Given the description of an element on the screen output the (x, y) to click on. 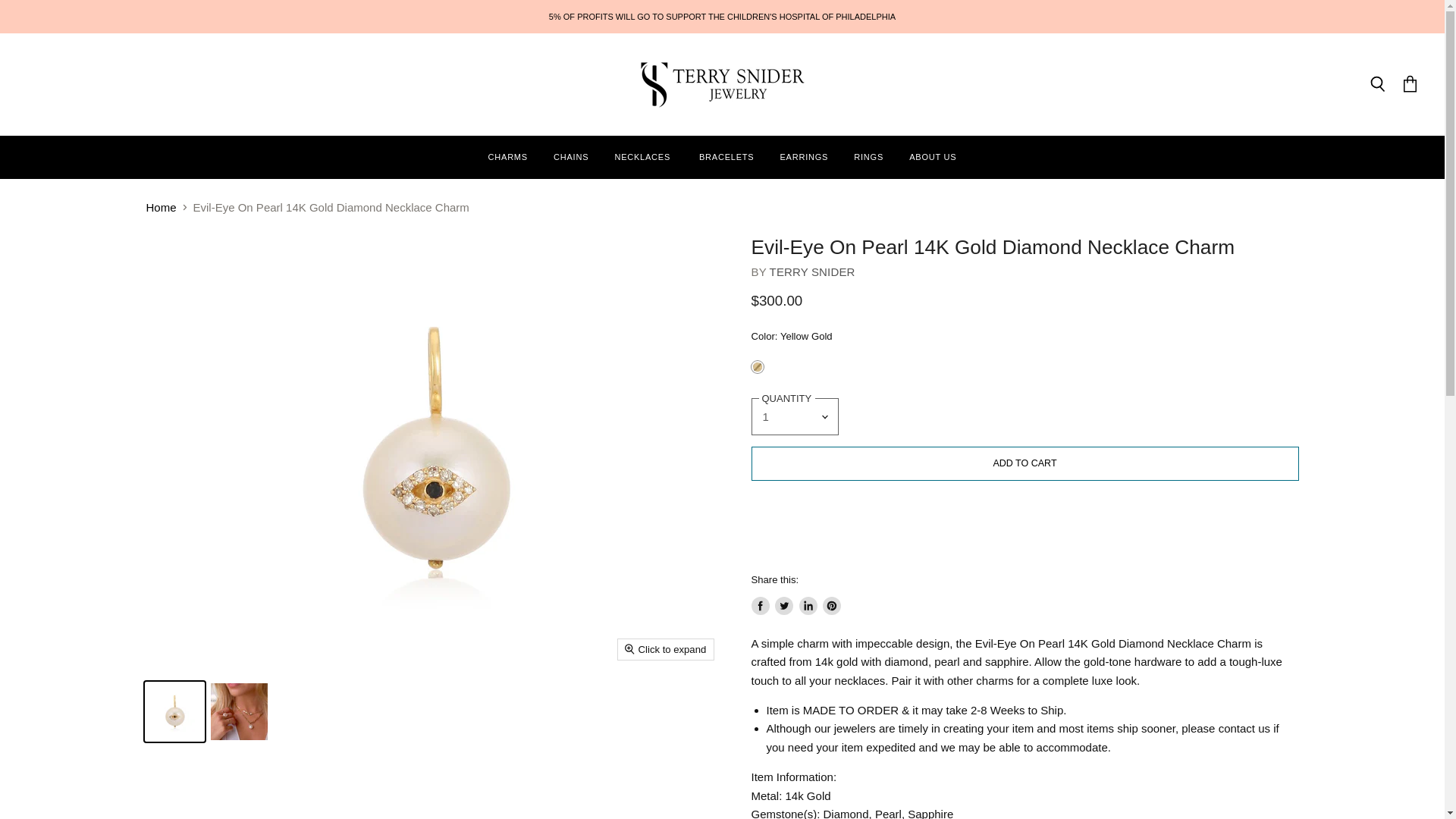
CHARMS (507, 156)
NECKLACES (643, 156)
Search (1376, 84)
Terry Snider (813, 271)
CHAINS (570, 156)
